Given the description of an element on the screen output the (x, y) to click on. 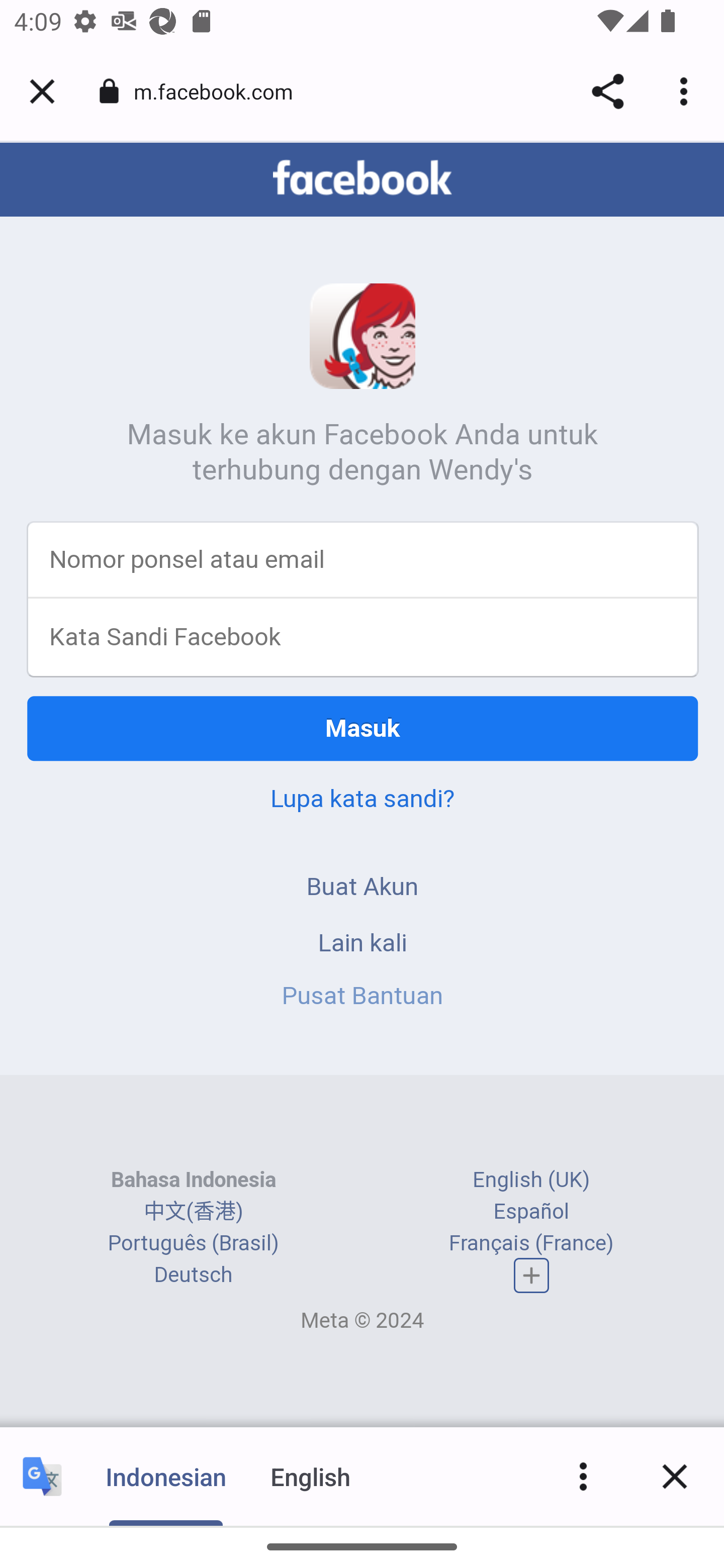
Close tab (42, 91)
Share (607, 91)
More options (687, 91)
Connection is secure (108, 91)
m.facebook.com (219, 90)
facebook (361, 179)
Masuk (363, 729)
Lupa kata sandi? (362, 800)
Buat Akun (363, 887)
Lain kali (362, 943)
Pusat Bantuan (363, 996)
English (UK) (531, 1181)
中文(香港) (193, 1212)
Español (531, 1212)
Português (Brasil) (193, 1243)
Français (France) (530, 1243)
Daftar bahasa lengkap (531, 1277)
Deutsch (192, 1275)
English (310, 1475)
More options (582, 1475)
Close (674, 1475)
